Given the description of an element on the screen output the (x, y) to click on. 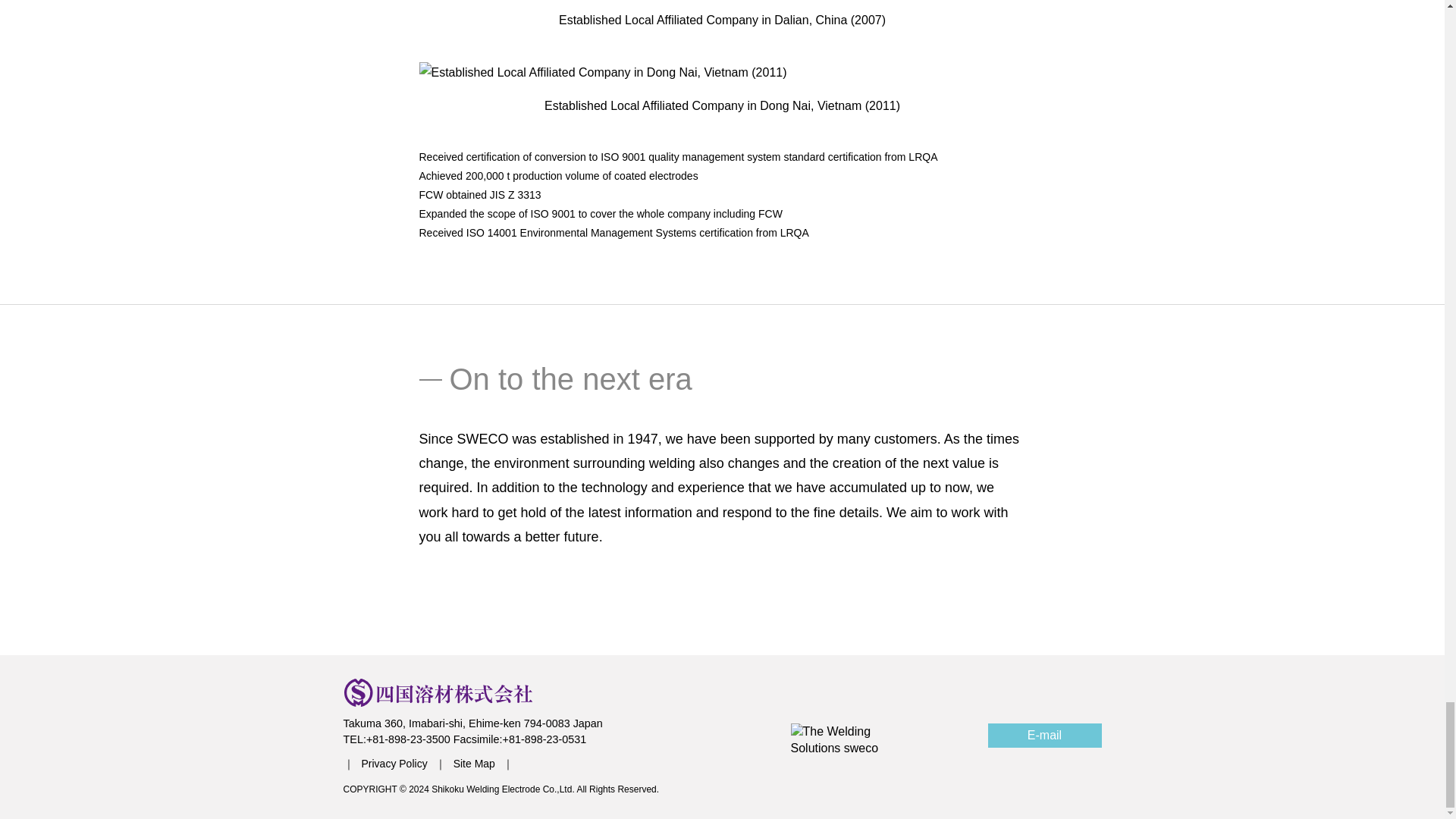
E-mail (1043, 735)
Site Map (474, 763)
Privacy Policy (384, 763)
